Given the description of an element on the screen output the (x, y) to click on. 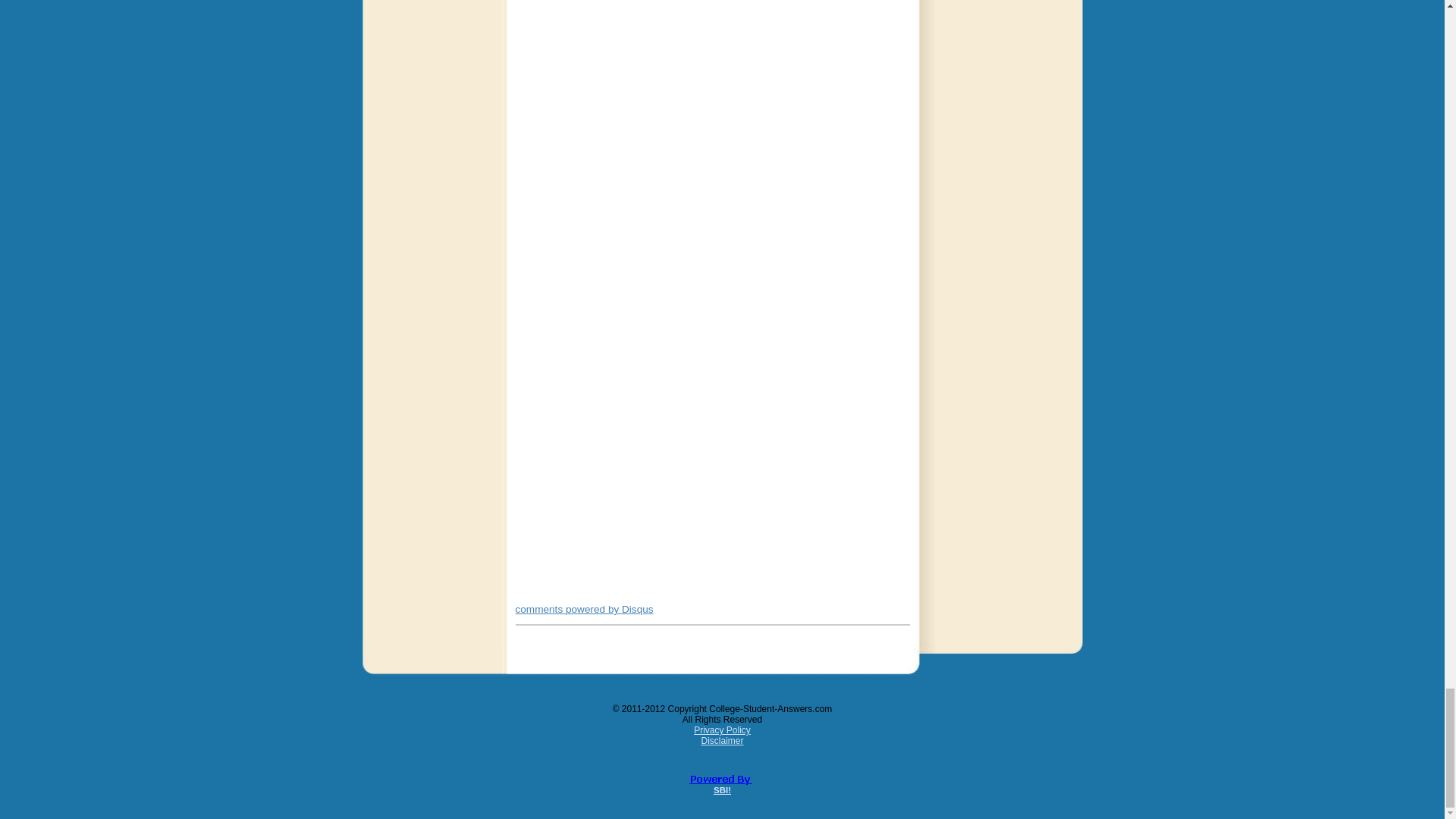
Privacy Policy (722, 729)
Disclaimer (721, 740)
comments powered by Disqus (584, 609)
SBI! (721, 789)
